Given the description of an element on the screen output the (x, y) to click on. 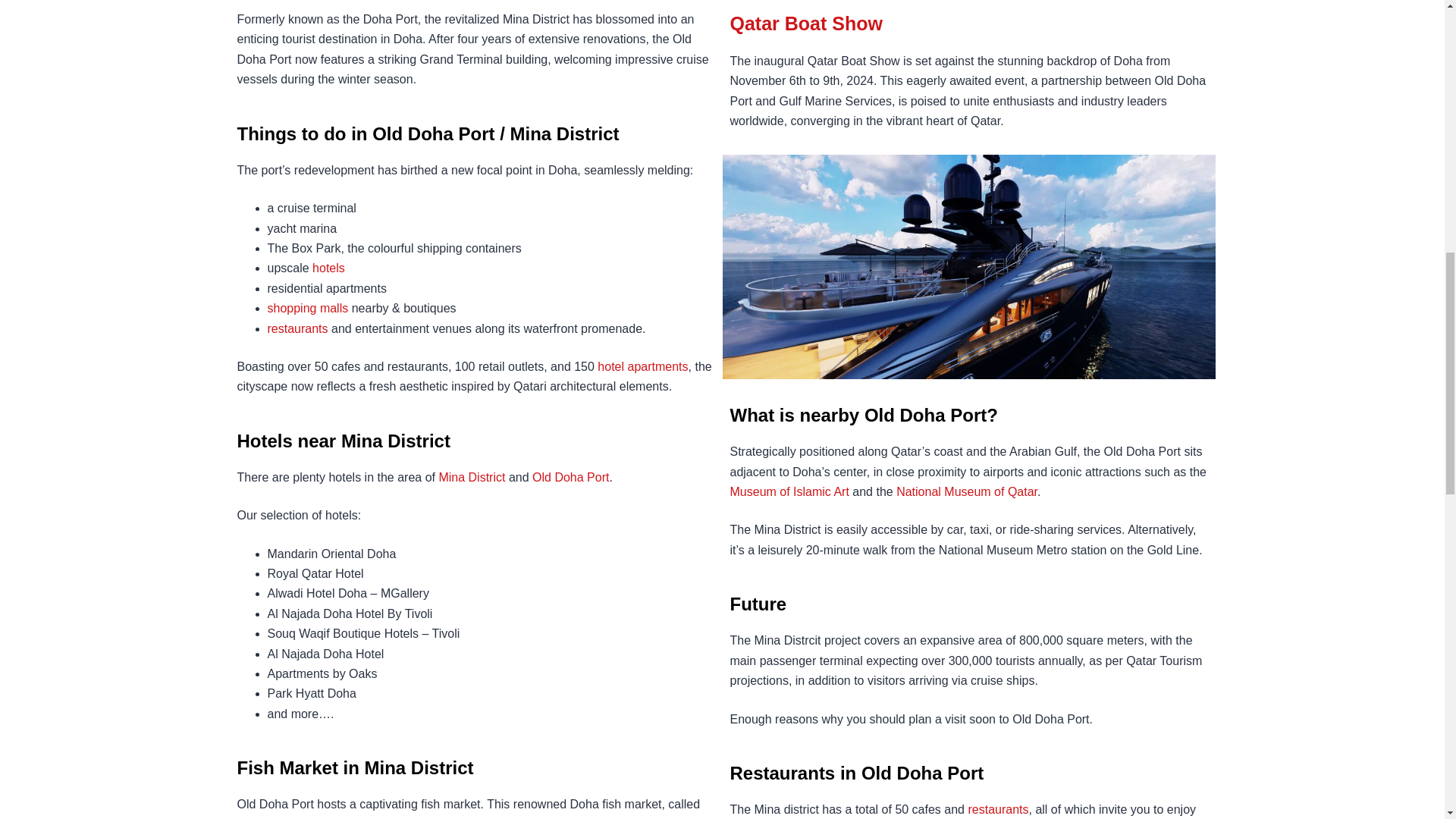
shopping malls (306, 308)
Old Doha Port (570, 477)
hotel apartments (641, 366)
Museum of Islamic Art Doha Qatar (788, 491)
Qatar Boat Show in Doha 2024 (805, 23)
restaurants (296, 328)
Hotels Old Doha Port Qatar (570, 477)
Hotels Mina District (471, 477)
Hotels Mina District (641, 366)
Old Doha Port shopping malls (306, 308)
